Given the description of an element on the screen output the (x, y) to click on. 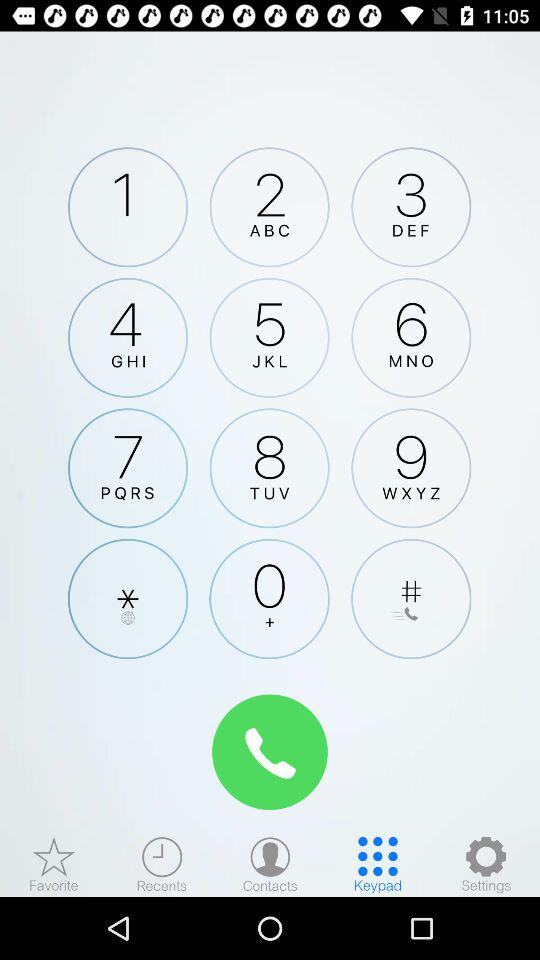
click 6/mno (411, 337)
